Given the description of an element on the screen output the (x, y) to click on. 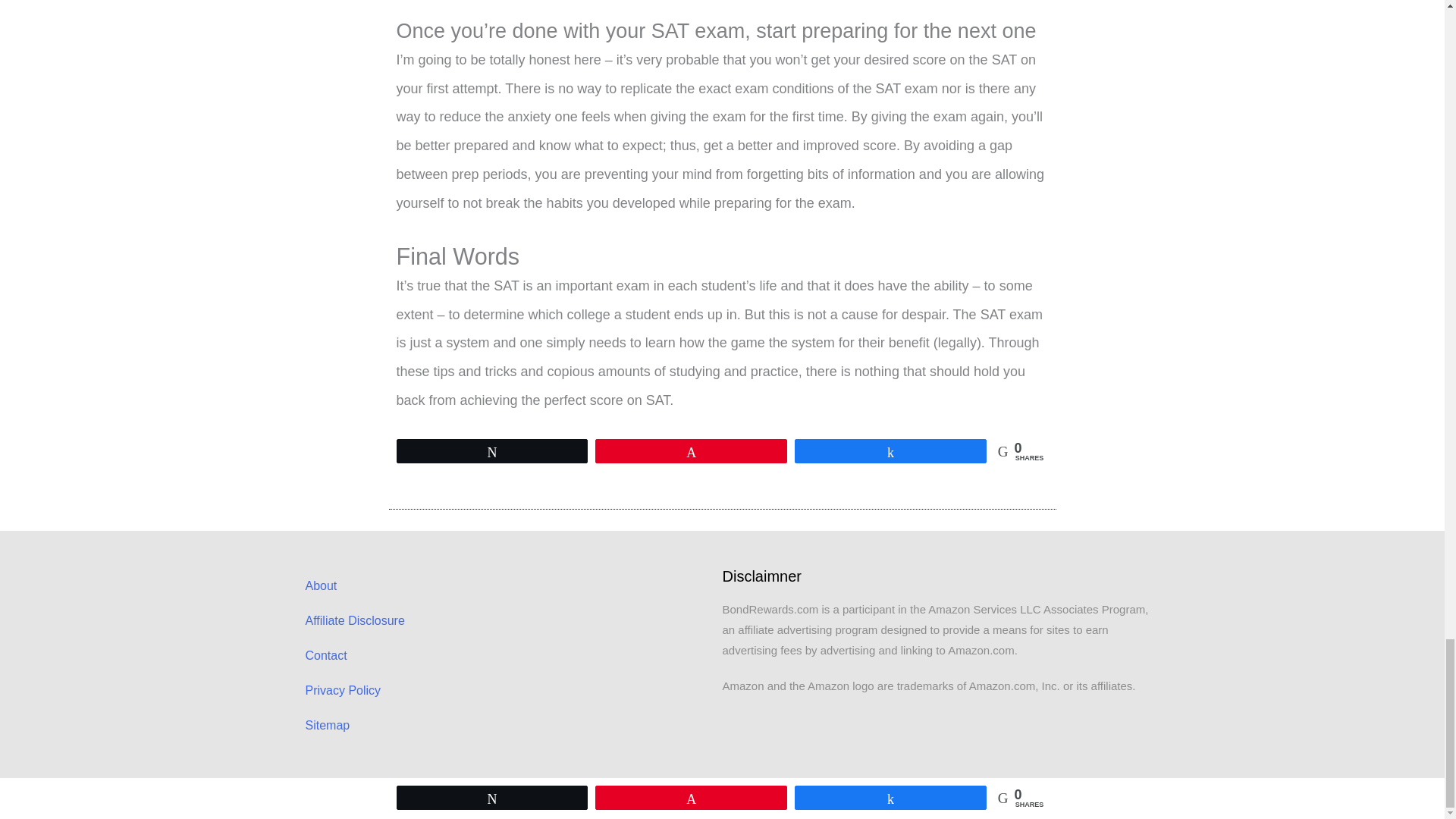
Affiliate Disclosure (505, 620)
Privacy Policy (505, 690)
Sitemap (505, 725)
About (505, 585)
Contact (505, 655)
